Given the description of an element on the screen output the (x, y) to click on. 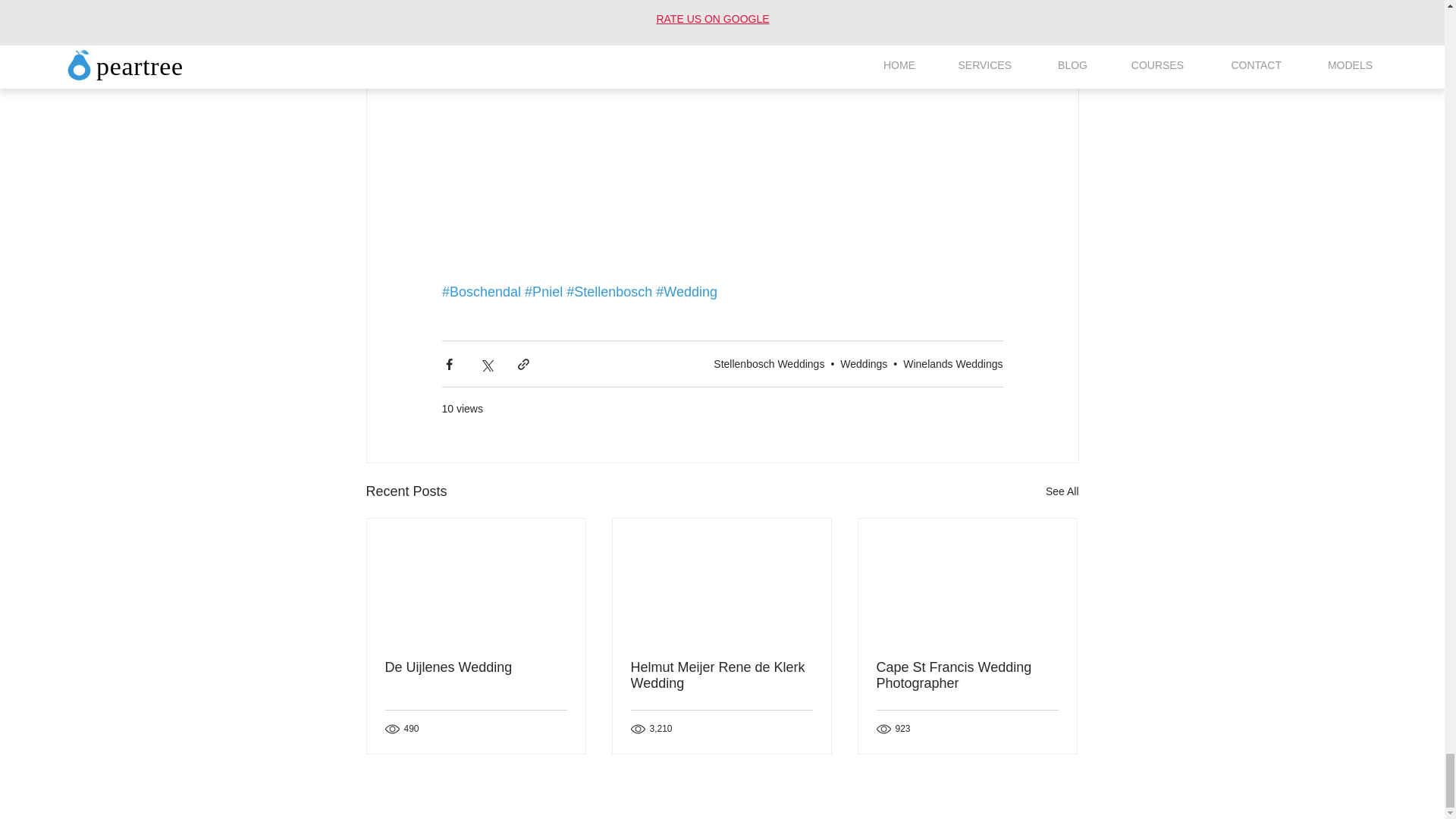
Weddings (863, 363)
Stellenbosch Weddings (768, 363)
Winelands Weddings (952, 363)
See All (1061, 491)
